Given the description of an element on the screen output the (x, y) to click on. 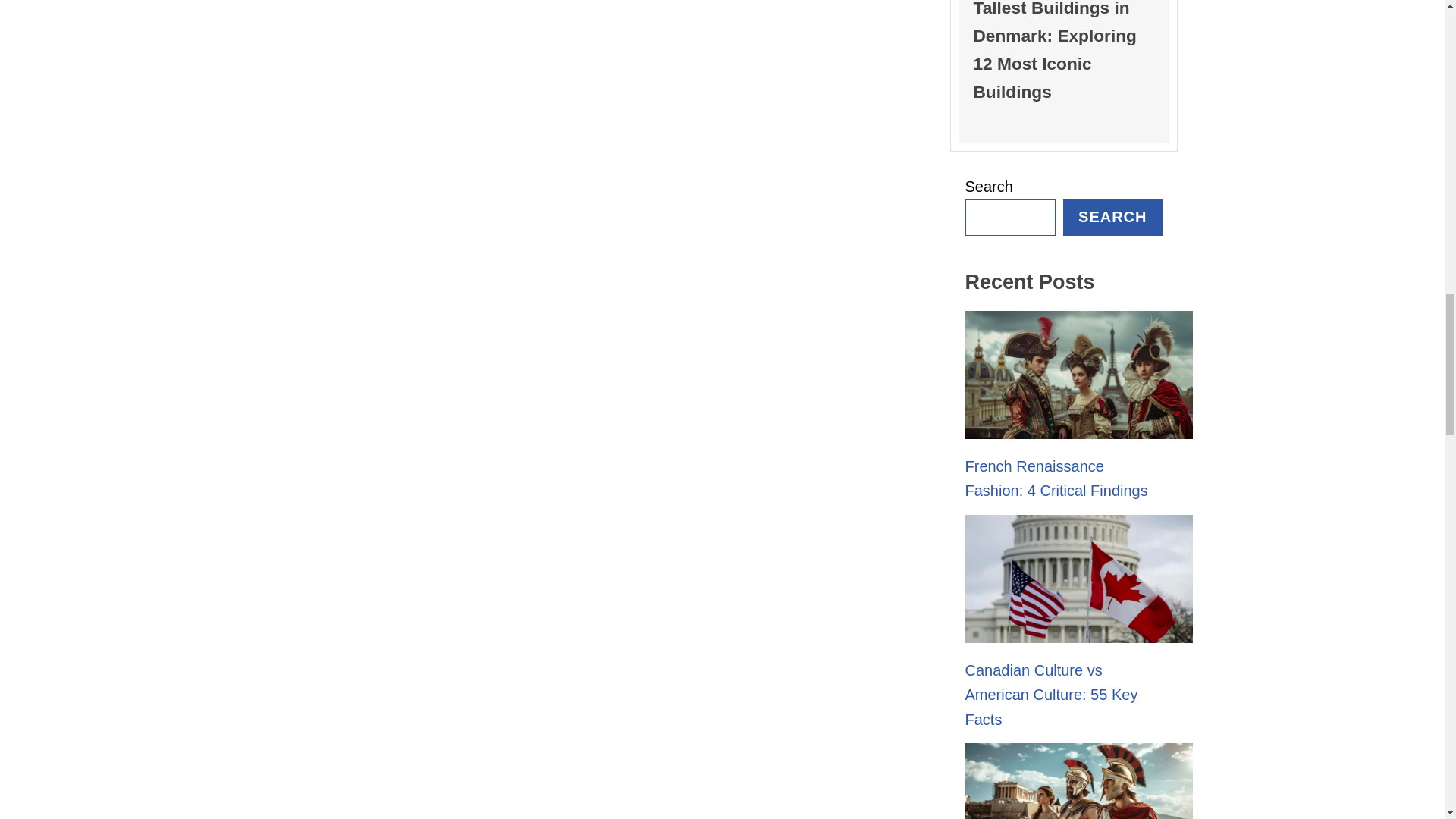
French Renaissance Fashion: 4 Critical Findings (1055, 478)
Canadian Culture vs American Culture: 55 Key Facts (1050, 694)
SEARCH (1111, 217)
